Given the description of an element on the screen output the (x, y) to click on. 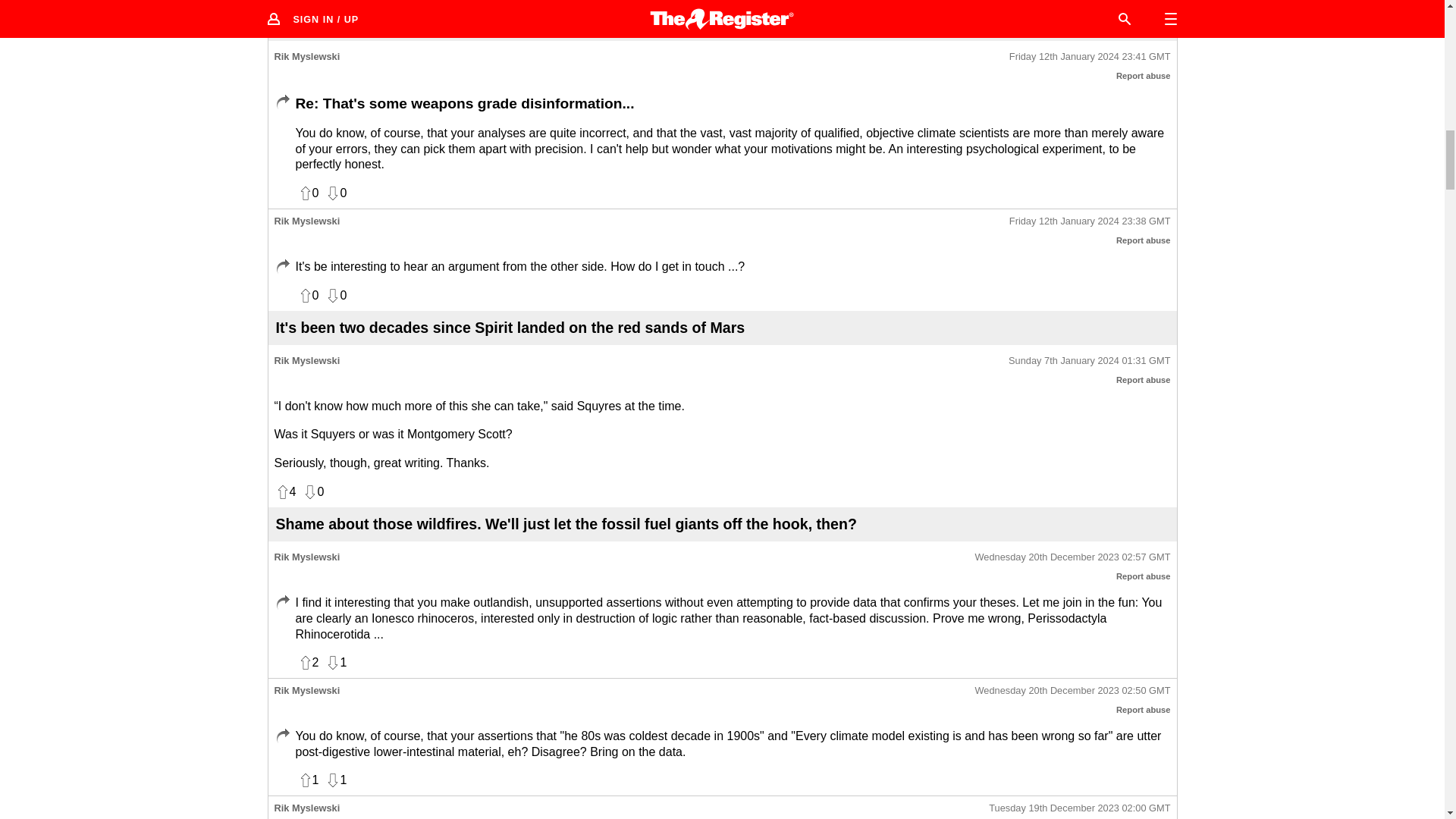
Report abuse (1143, 575)
Report abuse (1143, 239)
Report abuse (1143, 709)
Report abuse (1143, 75)
Report abuse (1143, 379)
